Given the description of an element on the screen output the (x, y) to click on. 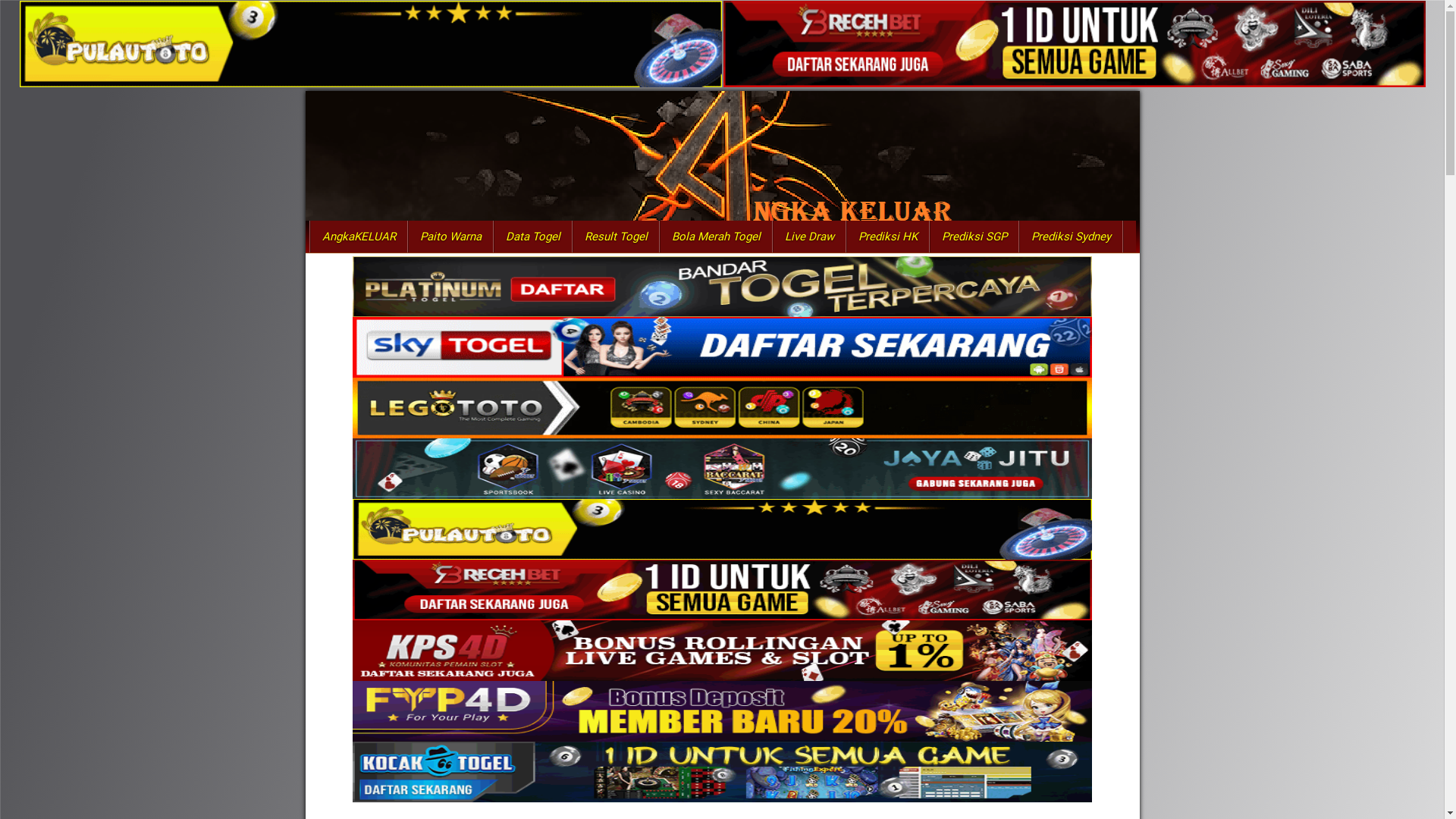
Daftar Jayajitu Element type: hover (722, 467)
Prediksi HK Element type: text (887, 236)
Daftar Pulautoto Element type: hover (722, 528)
Daftar Skytogel Element type: hover (722, 346)
Daftar Kps4d Element type: hover (722, 649)
Daftar Recehbet Element type: hover (1073, 43)
Daftar Kocaktogel Element type: hover (722, 771)
Daftar Legototo Element type: hover (722, 407)
AngkaKELUAR Element type: text (358, 236)
Prediksi SGP Element type: text (974, 236)
Bola Merah Togel Element type: text (715, 236)
Result Togel Element type: text (614, 236)
Daftar Fyp4d Element type: hover (722, 710)
Daftar Platinumtoto Element type: hover (722, 285)
Daftar Recehbet Element type: hover (722, 589)
Prediksi Sydney Element type: text (1071, 236)
Daftar Pulautoto Element type: hover (369, 43)
Live Draw Element type: text (808, 236)
Paito Warna Element type: text (450, 236)
Data Togel Element type: text (531, 236)
